Given the description of an element on the screen output the (x, y) to click on. 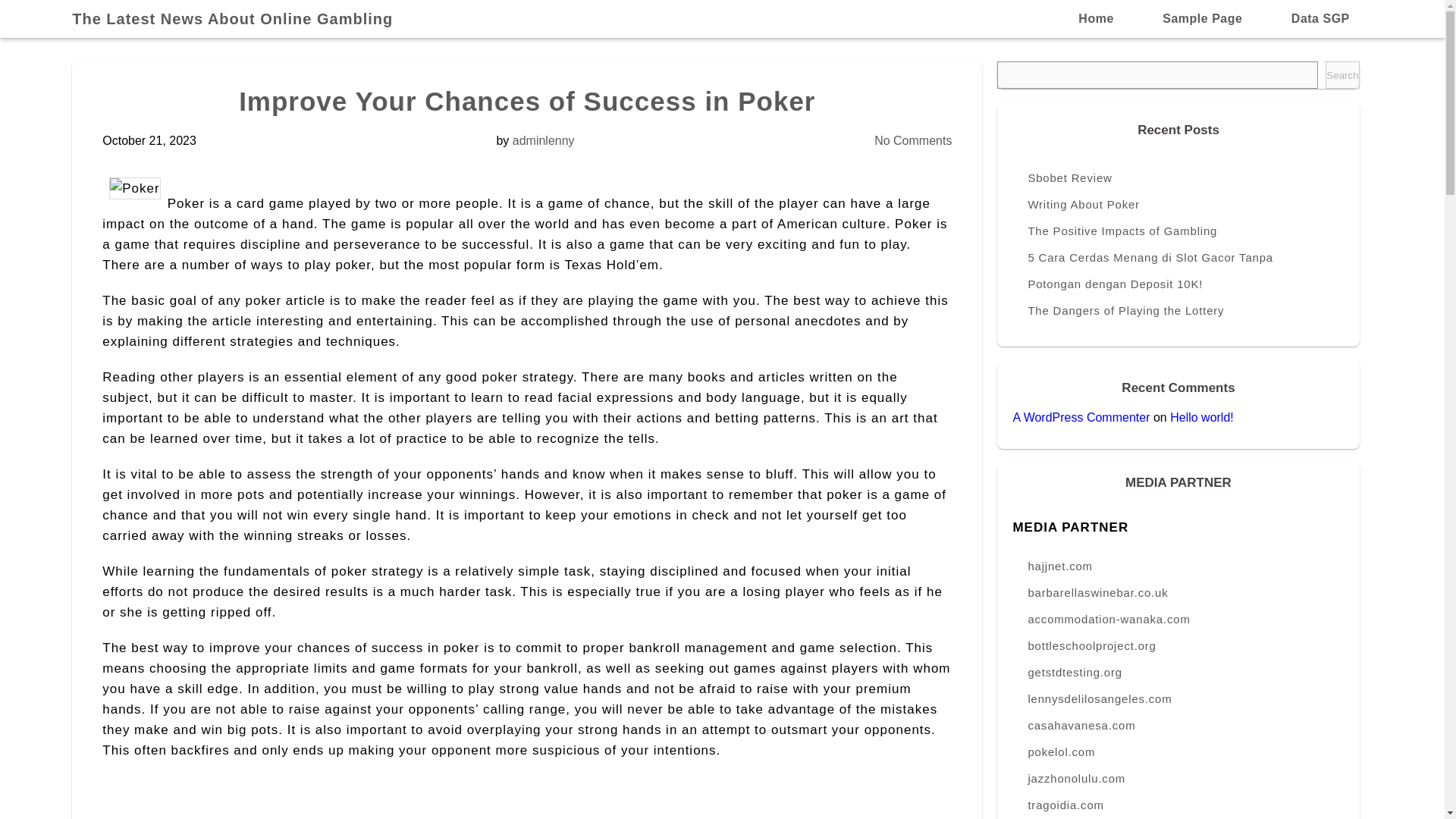
barbarellaswinebar.co.uk (1177, 592)
No Comments (913, 140)
lennysdelilosangeles.com (1177, 698)
Data SGP (1320, 18)
The Latest News About Online Gambling (239, 18)
jazzhonolulu.com (1177, 777)
A WordPress Commenter (1080, 417)
The Dangers of Playing the Lottery (1177, 310)
hajjnet.com (1177, 565)
